Given the description of an element on the screen output the (x, y) to click on. 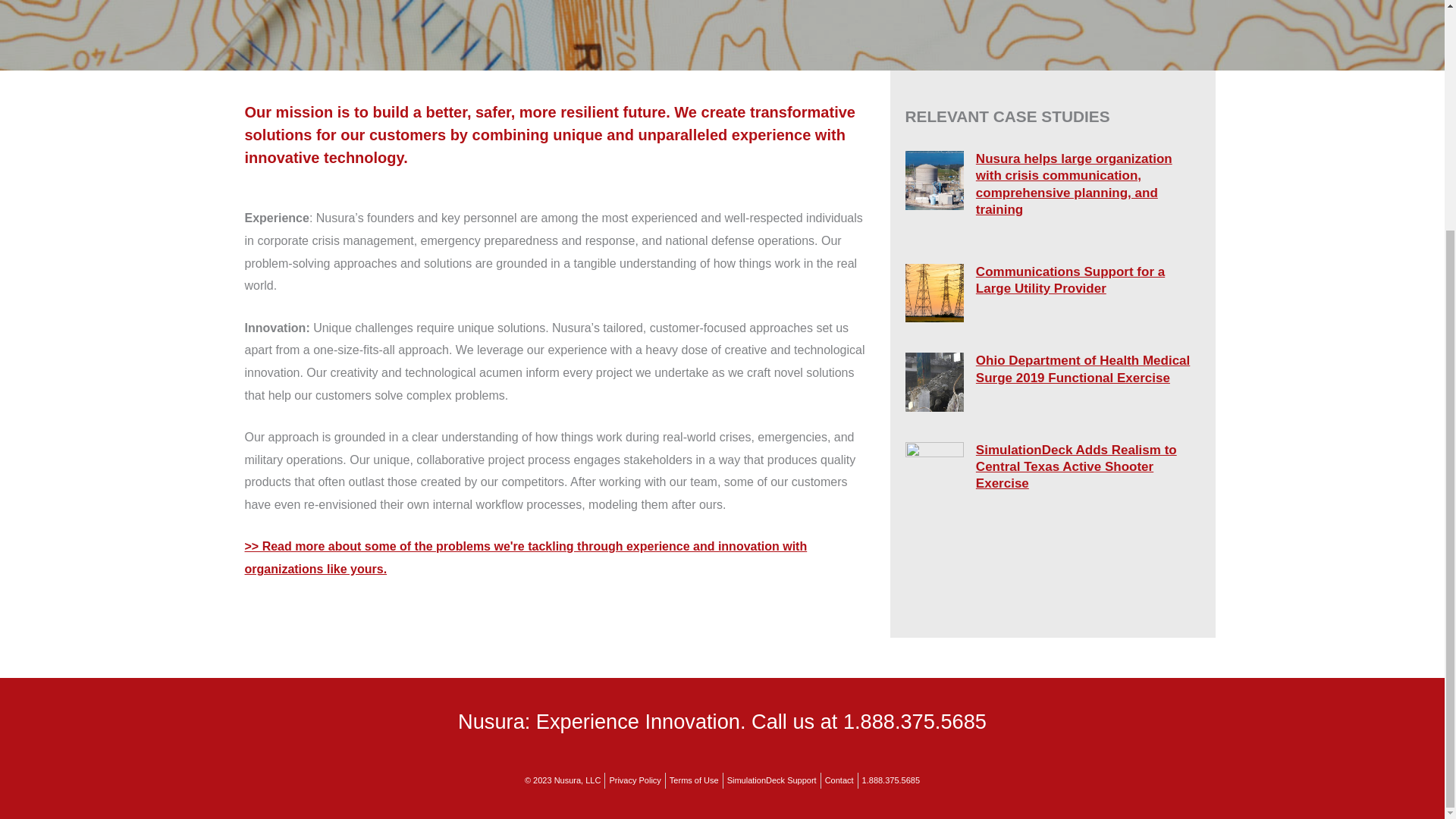
Communications Support for a Large Utility Provider (1069, 279)
1.888.375.5685 (891, 780)
Terms of Use (693, 780)
Communications Support for a Large Utility Provider (1069, 279)
Communications Support for a Large Utility Provider (934, 291)
Privacy Policy (634, 780)
